Given the description of an element on the screen output the (x, y) to click on. 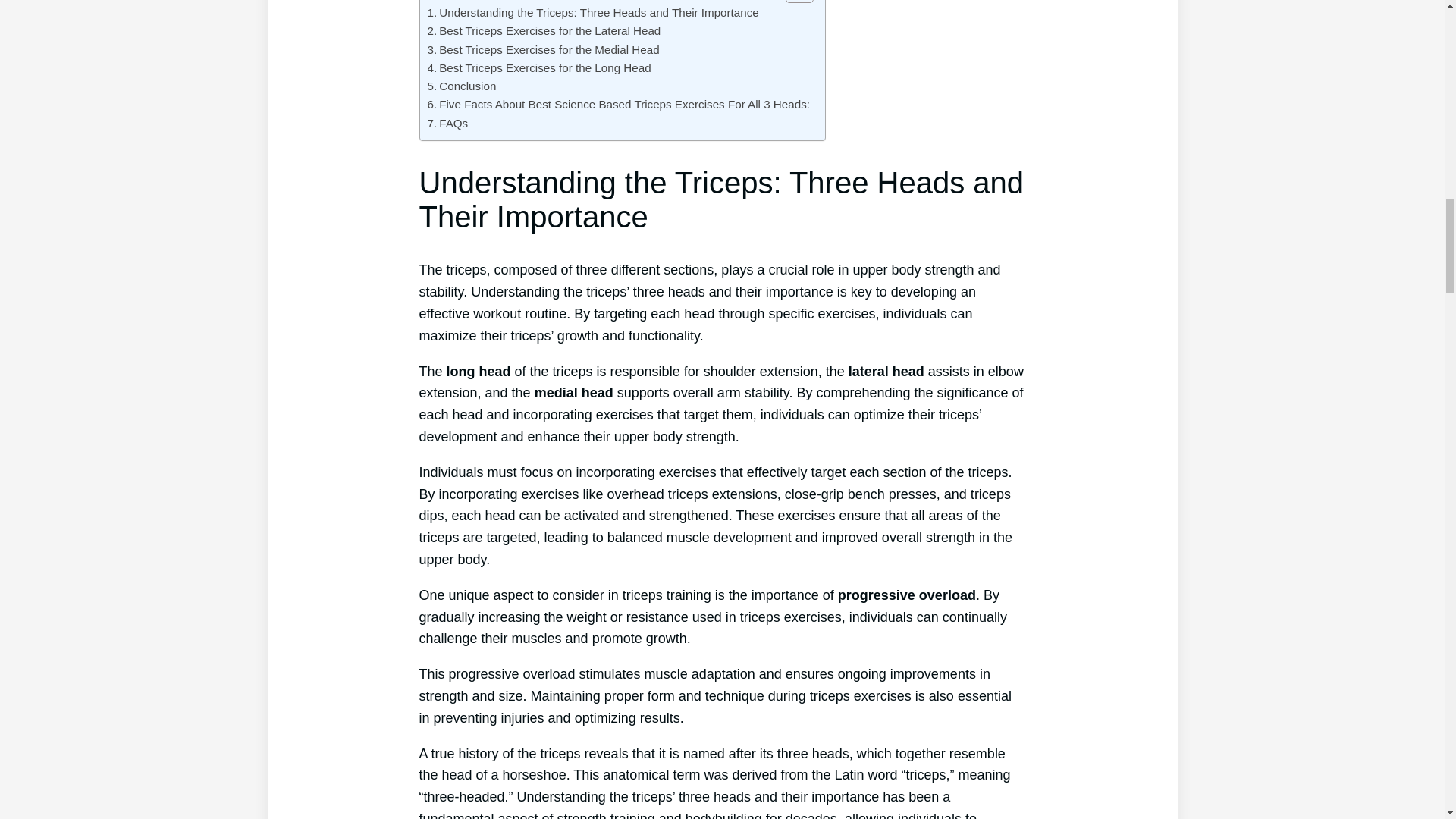
Best Triceps Exercises for the Long Head (539, 67)
Best Triceps Exercises for the Lateral Head (544, 31)
Best Triceps Exercises for the Long Head (539, 67)
Conclusion (462, 85)
Best Triceps Exercises for the Medial Head (543, 49)
Best Triceps Exercises for the Medial Head (543, 49)
Understanding the Triceps: Three Heads and Their Importance (593, 13)
Understanding the Triceps: Three Heads and Their Importance (593, 13)
Conclusion (462, 85)
FAQs (448, 123)
FAQs  (448, 123)
Best Triceps Exercises for the Lateral Head (544, 31)
